Given the description of an element on the screen output the (x, y) to click on. 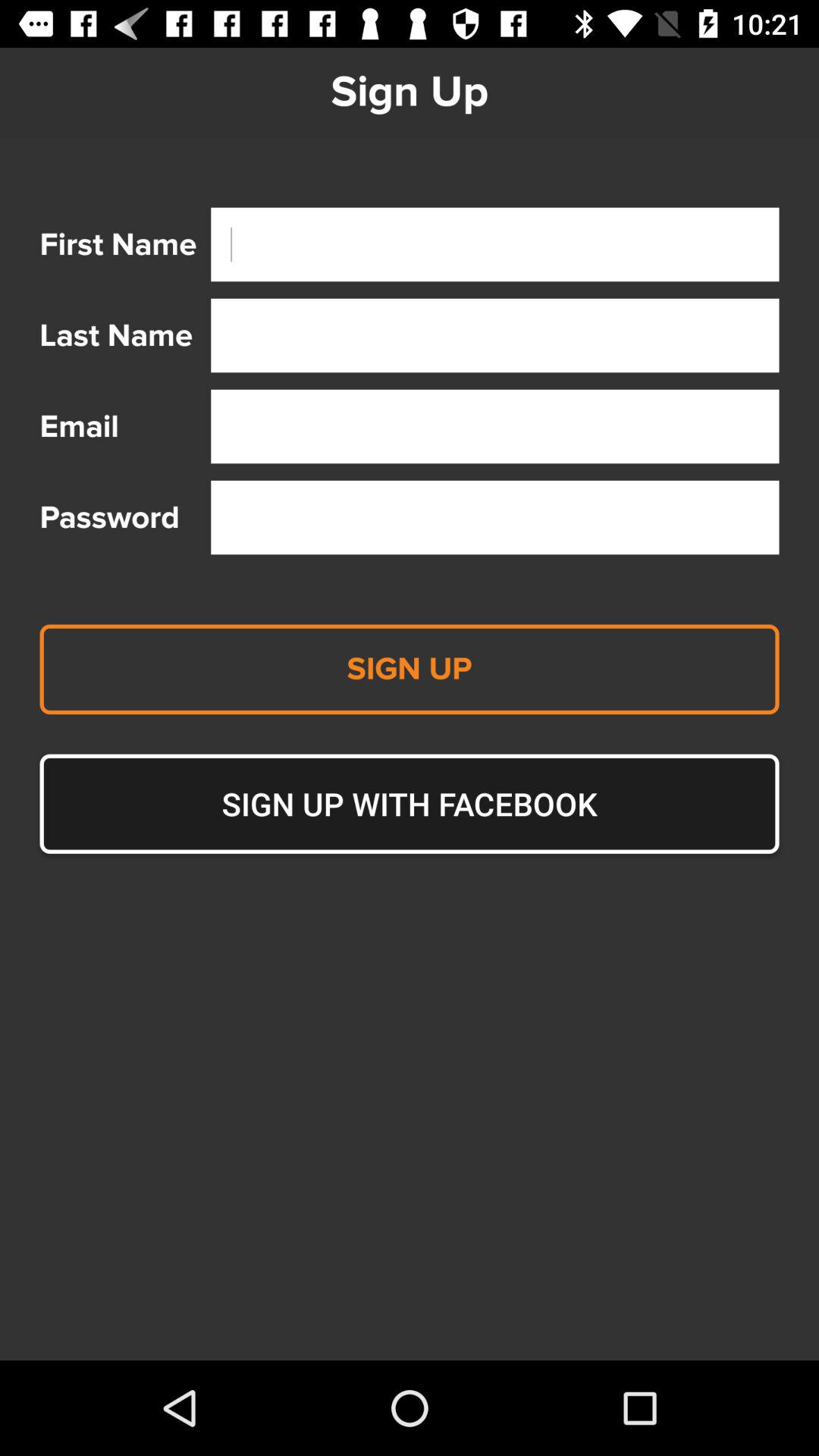
enter text (495, 335)
